Given the description of an element on the screen output the (x, y) to click on. 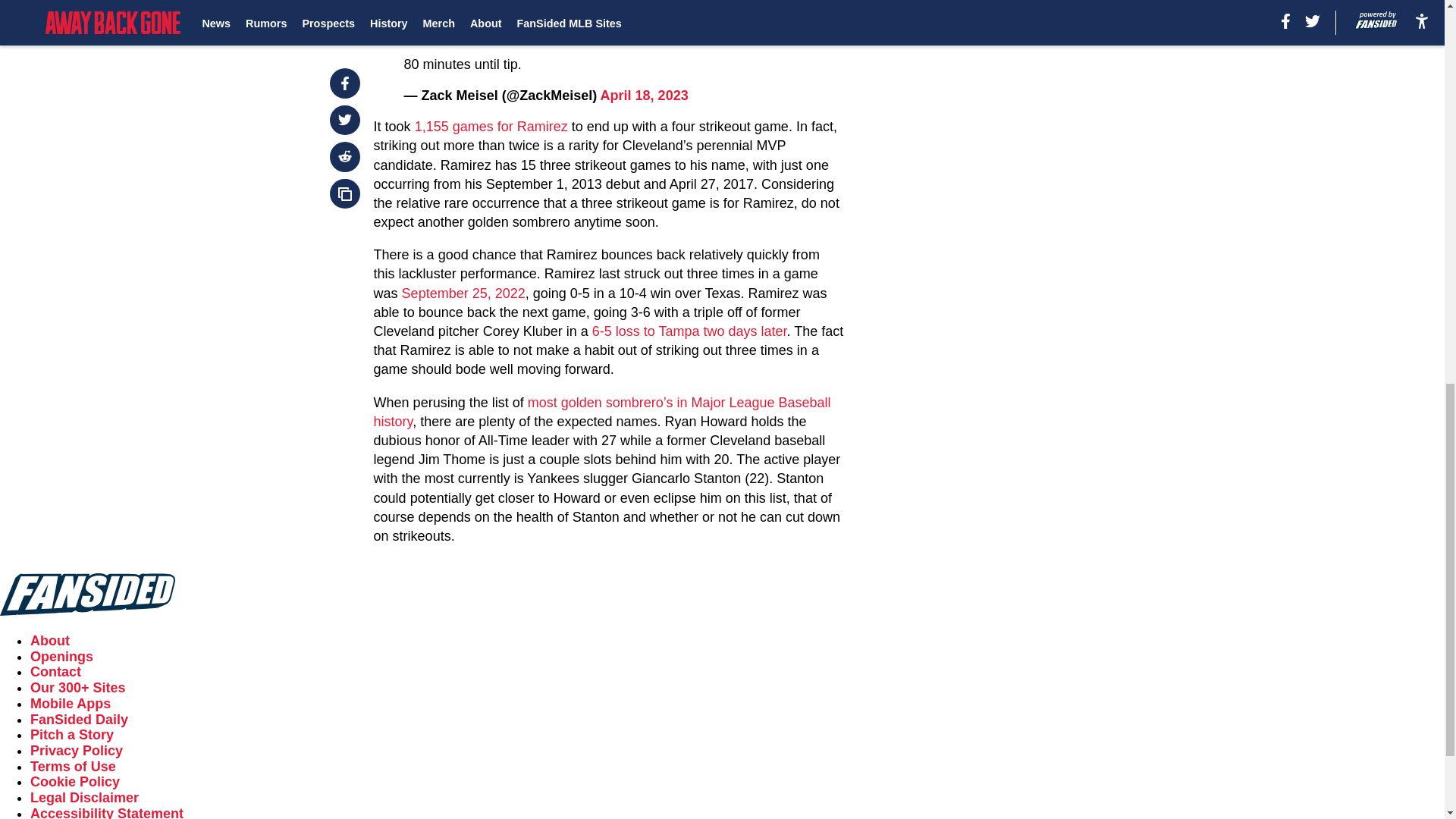
6-5 loss to Tampa two days later (689, 331)
1,155 games for Ramirez (490, 126)
Openings (61, 656)
April 18, 2023 (643, 95)
September 25, 2022 (461, 293)
About (49, 640)
Contact (55, 671)
